Given the description of an element on the screen output the (x, y) to click on. 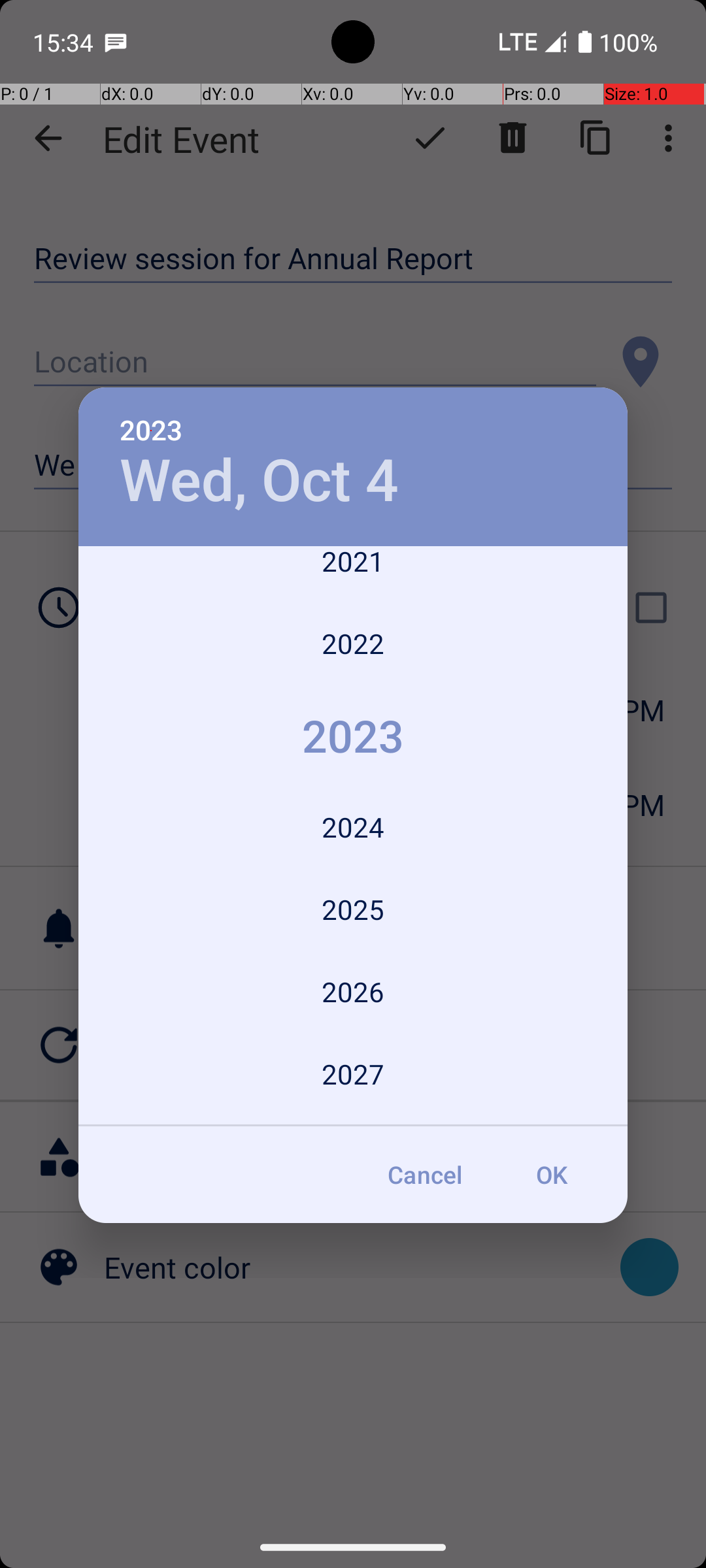
Wed, Oct 4 Element type: android.widget.TextView (258, 480)
2021 Element type: android.widget.TextView (352, 574)
2026 Element type: android.widget.TextView (352, 991)
2027 Element type: android.widget.TextView (352, 1073)
2028 Element type: android.widget.TextView (352, 1120)
